Given the description of an element on the screen output the (x, y) to click on. 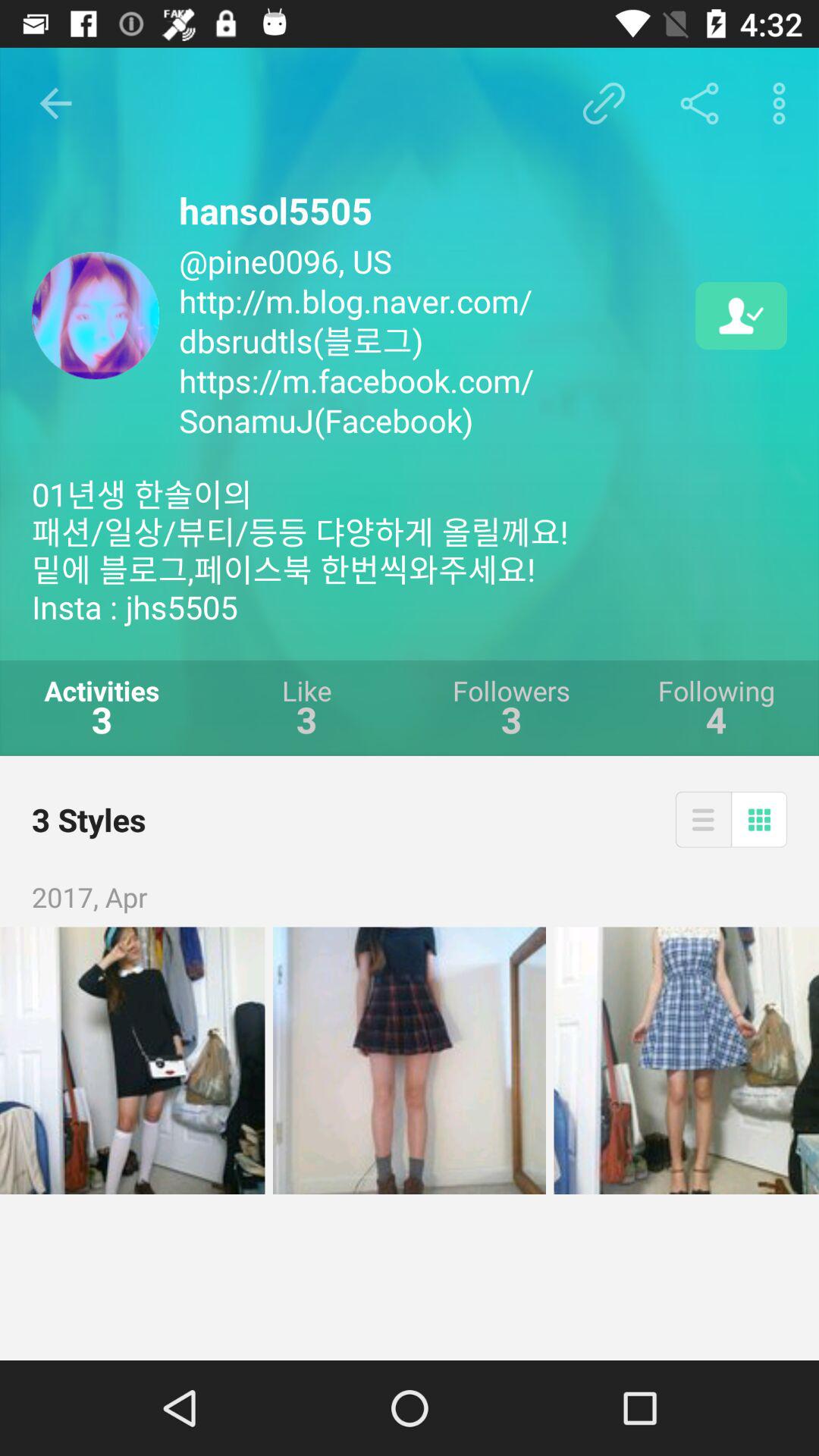
select image (686, 1060)
